Given the description of an element on the screen output the (x, y) to click on. 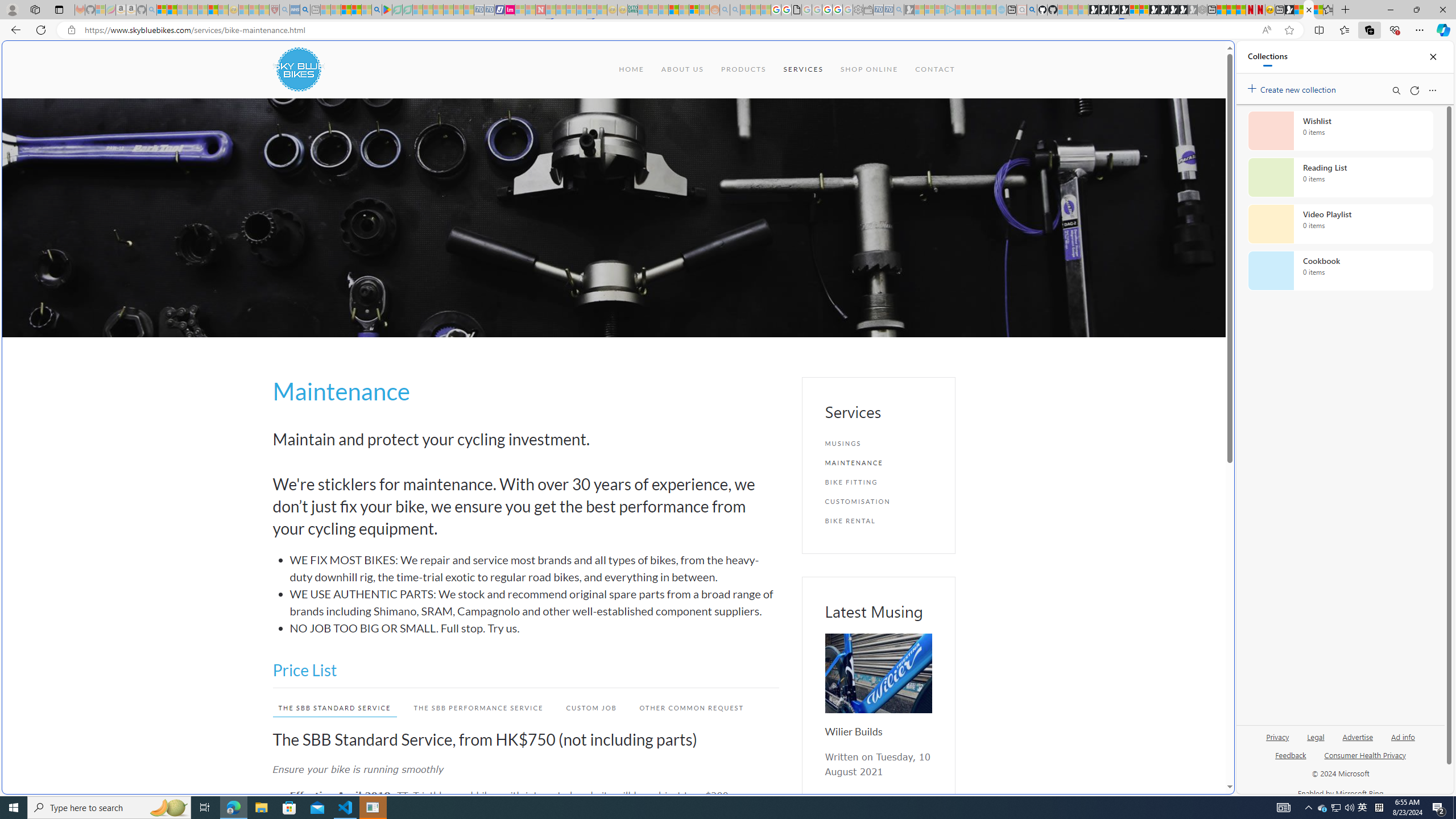
Wilier Builds (853, 730)
SHOP ONLINE (869, 68)
MAINTENANCE (878, 462)
google - Search (376, 9)
DITOGAMES AG Imprint (632, 9)
Home | Sky Blue Bikes - Sky Blue Bikes (1118, 242)
SERVICES (802, 68)
utah sues federal government - Search (922, 389)
Legal (1315, 741)
MSNBC - MSN - Sleeping (642, 9)
Wallet - Sleeping (867, 9)
